Given the description of an element on the screen output the (x, y) to click on. 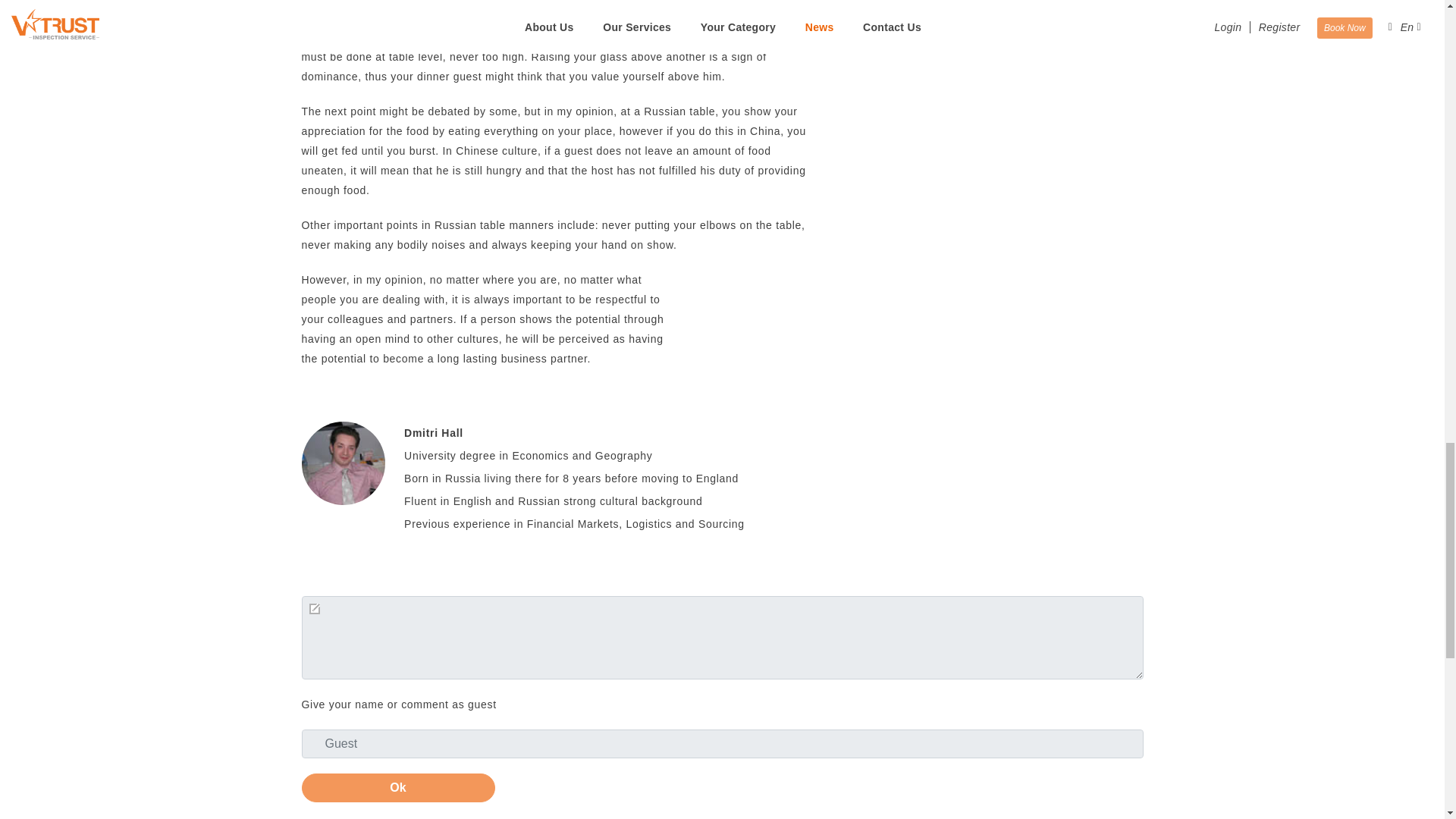
Ok (398, 787)
